Given the description of an element on the screen output the (x, y) to click on. 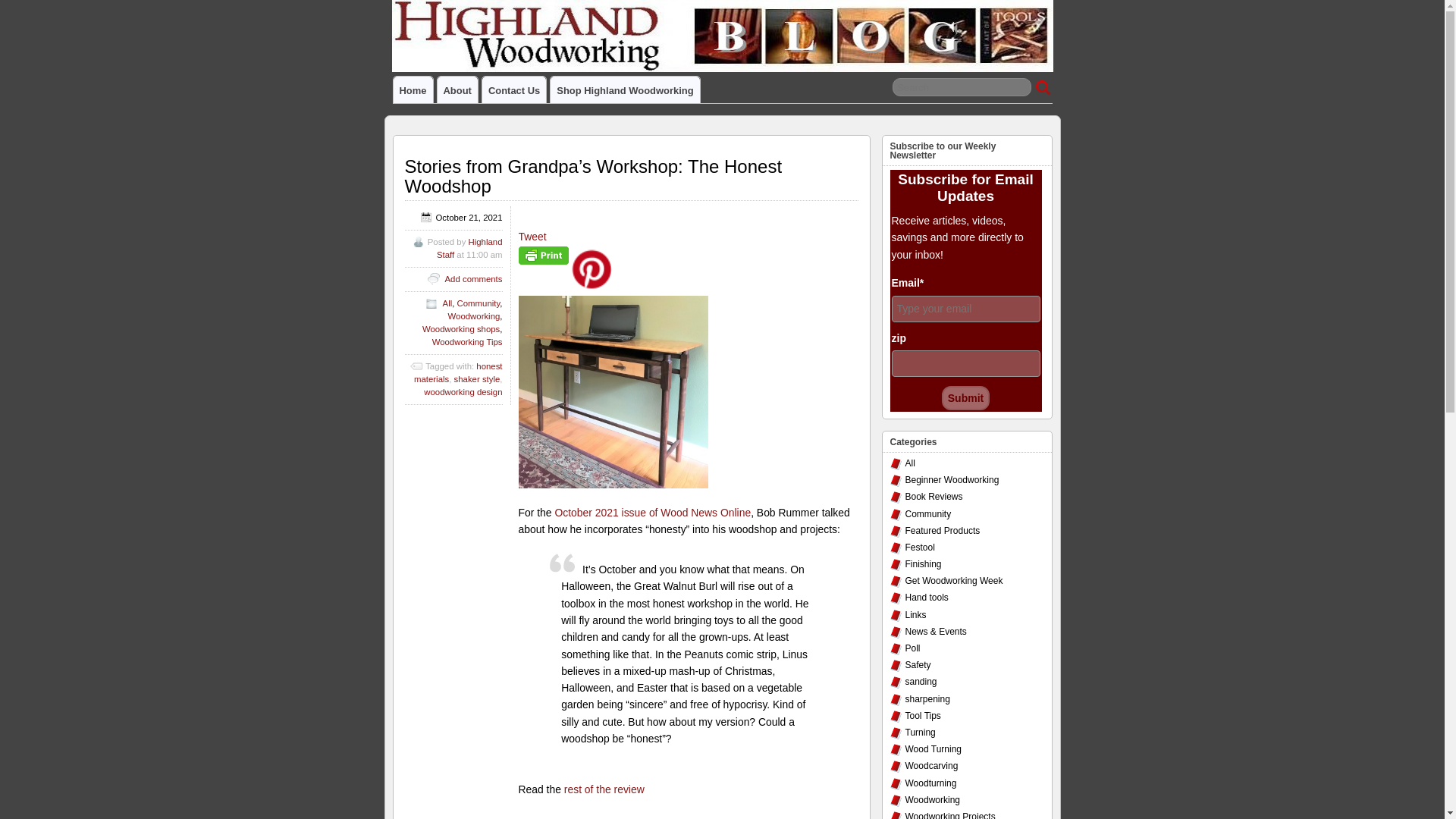
Add comments (473, 278)
Festool (919, 547)
Community (928, 513)
October 2021 issue of Wood News Online (652, 512)
shaker style (477, 379)
Woodworking shops (460, 328)
Book Reviews (933, 496)
Submit (966, 397)
honest materials (457, 372)
Beginner Woodworking (951, 480)
Woodworking Tips (467, 341)
Tweet (532, 236)
All (910, 462)
Finishing (923, 563)
Highland Staff (469, 248)
